Given the description of an element on the screen output the (x, y) to click on. 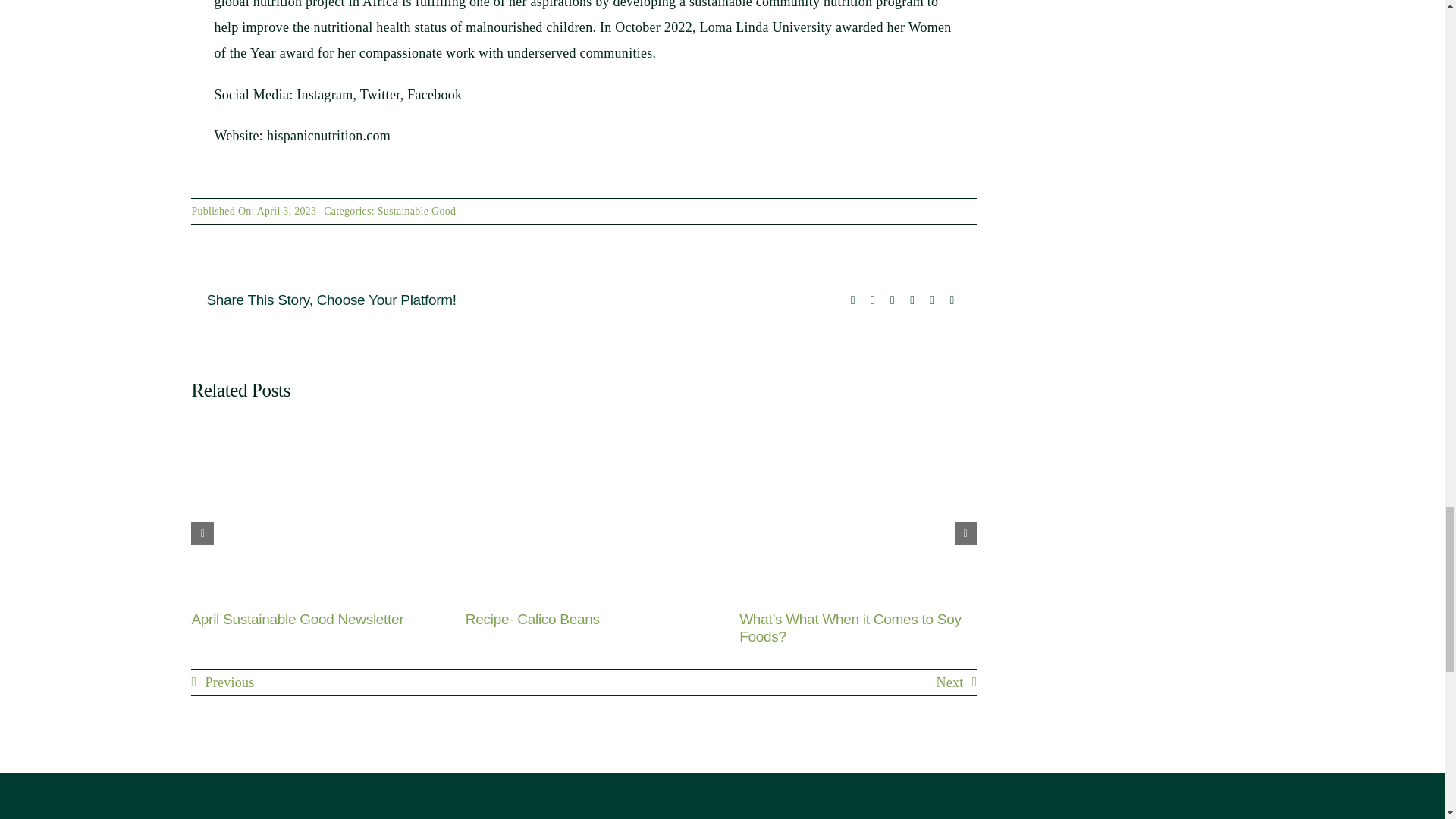
Recipe- Calico Beans (532, 618)
April Sustainable Good Newsletter (296, 618)
